Given the description of an element on the screen output the (x, y) to click on. 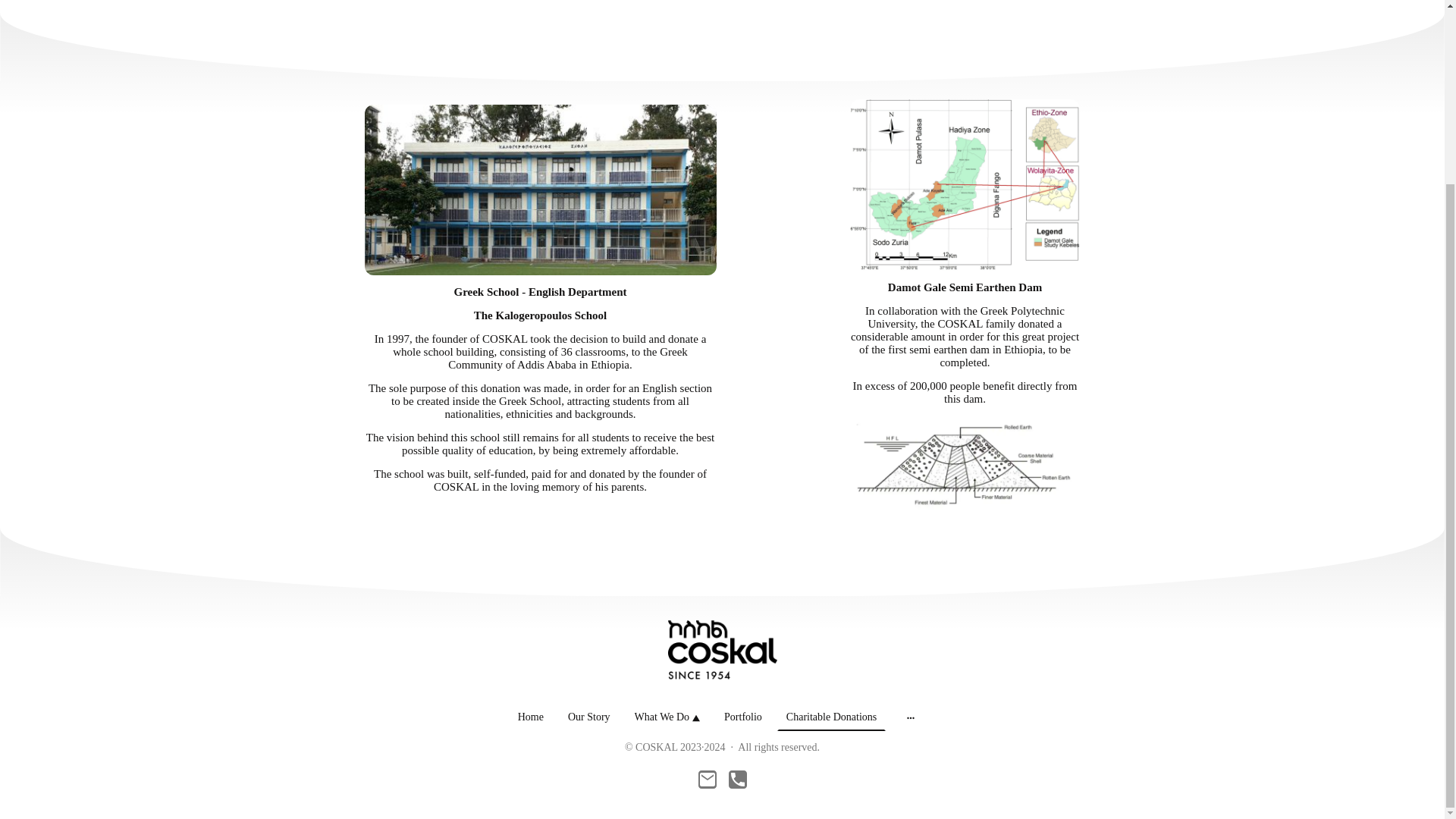
What We Do (667, 717)
Our Story (588, 717)
Home (531, 717)
